Given the description of an element on the screen output the (x, y) to click on. 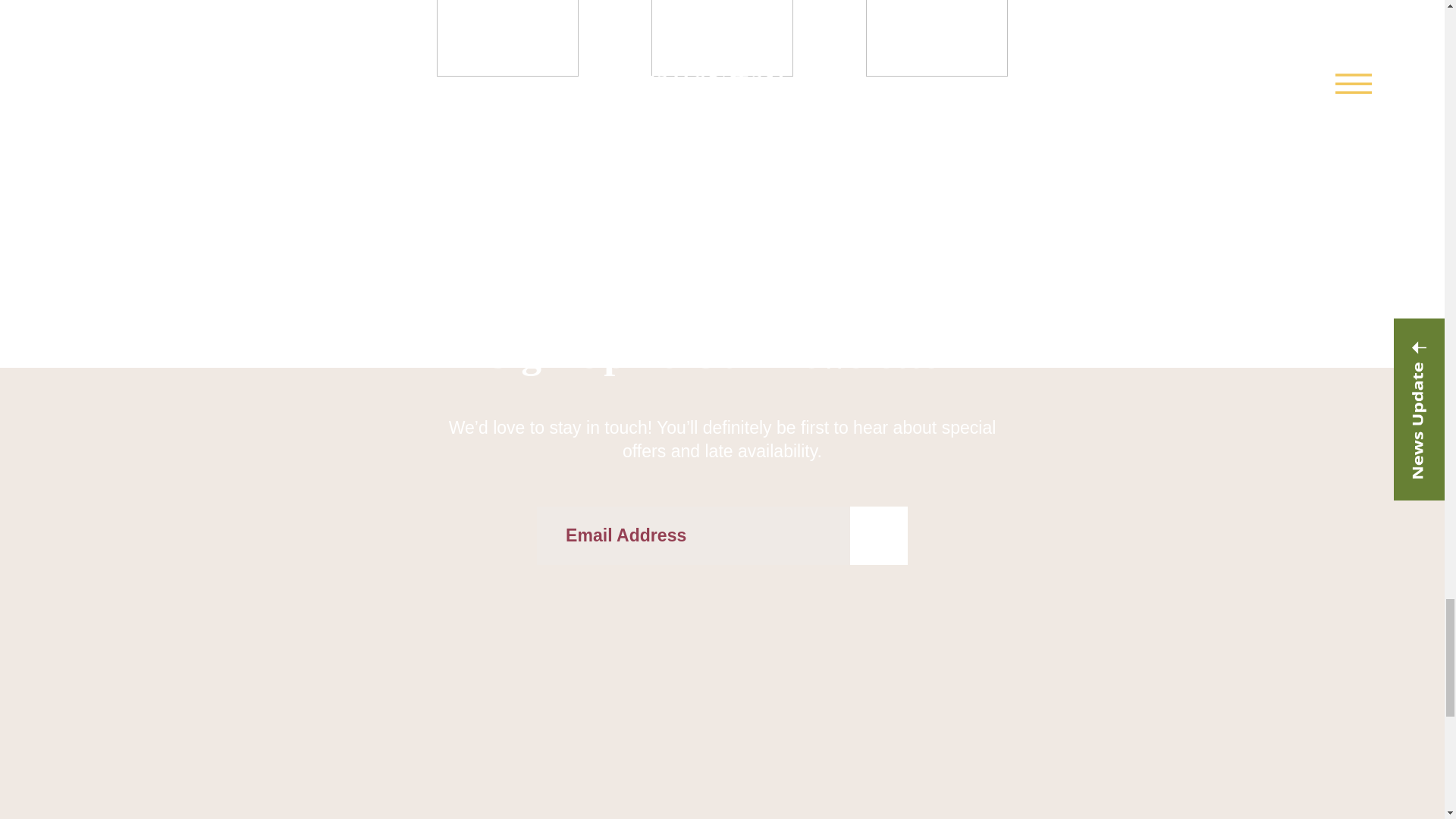
Submit (877, 535)
